Given the description of an element on the screen output the (x, y) to click on. 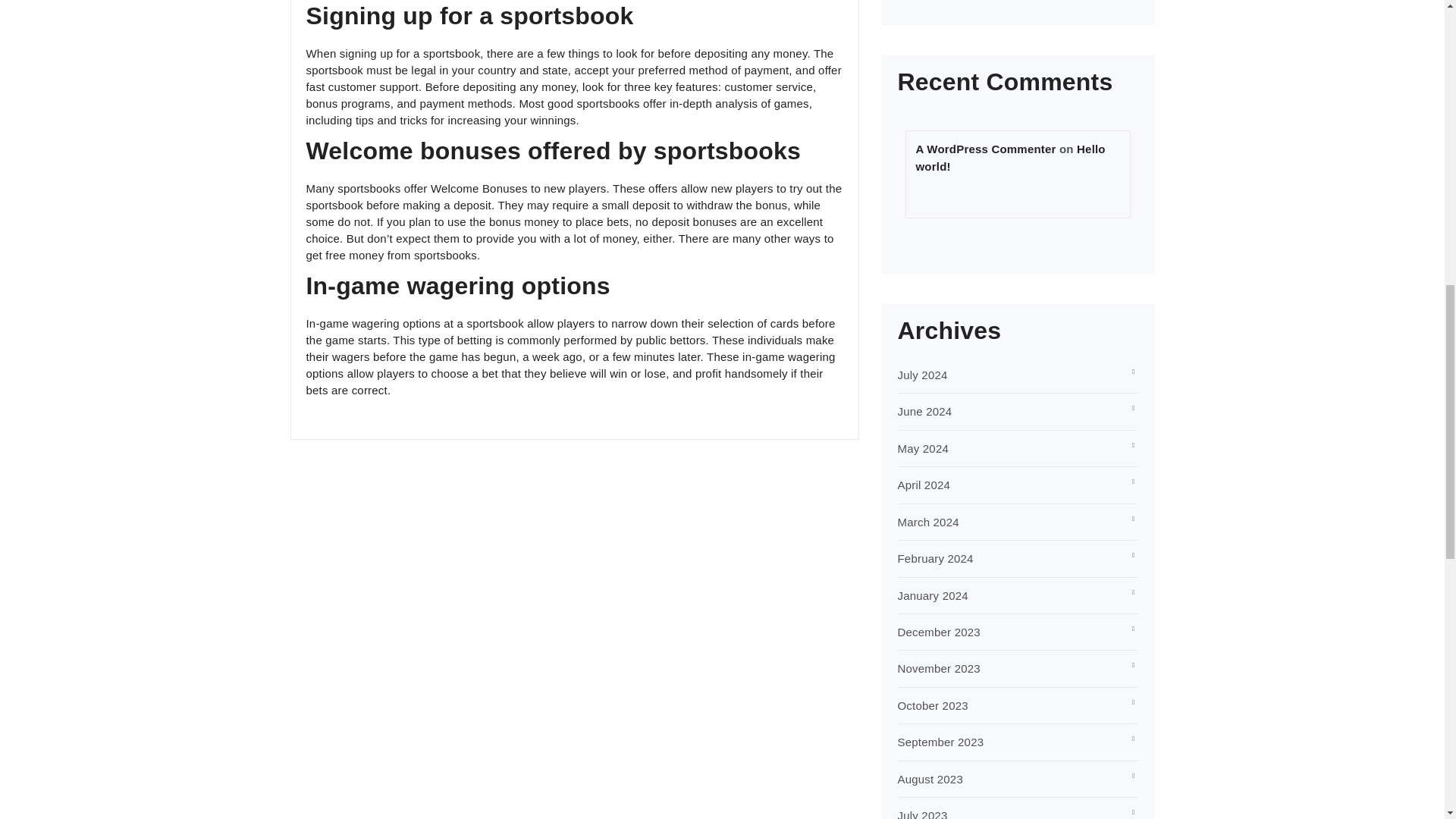
April 2024 (924, 484)
August 2023 (930, 779)
Hello world! (1010, 157)
December 2023 (938, 631)
May 2024 (923, 448)
January 2024 (933, 594)
July 2023 (922, 814)
February 2024 (936, 558)
July 2024 (922, 374)
November 2023 (938, 667)
March 2024 (928, 521)
A WordPress Commenter (986, 148)
October 2023 (933, 705)
September 2023 (941, 741)
